Given the description of an element on the screen output the (x, y) to click on. 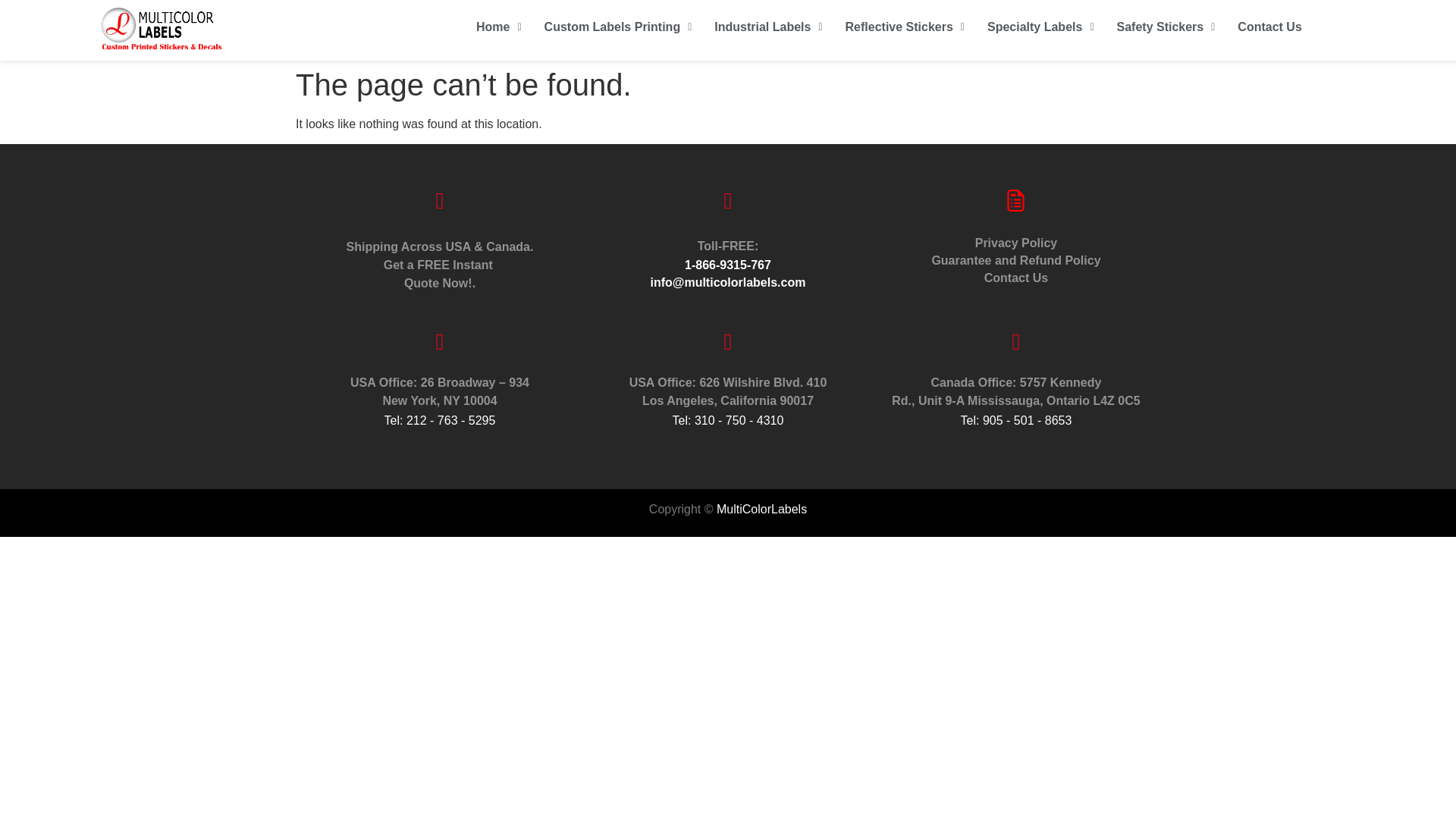
Home (498, 26)
Custom Labels Printing (617, 26)
Industrial Labels (767, 26)
